Given the description of an element on the screen output the (x, y) to click on. 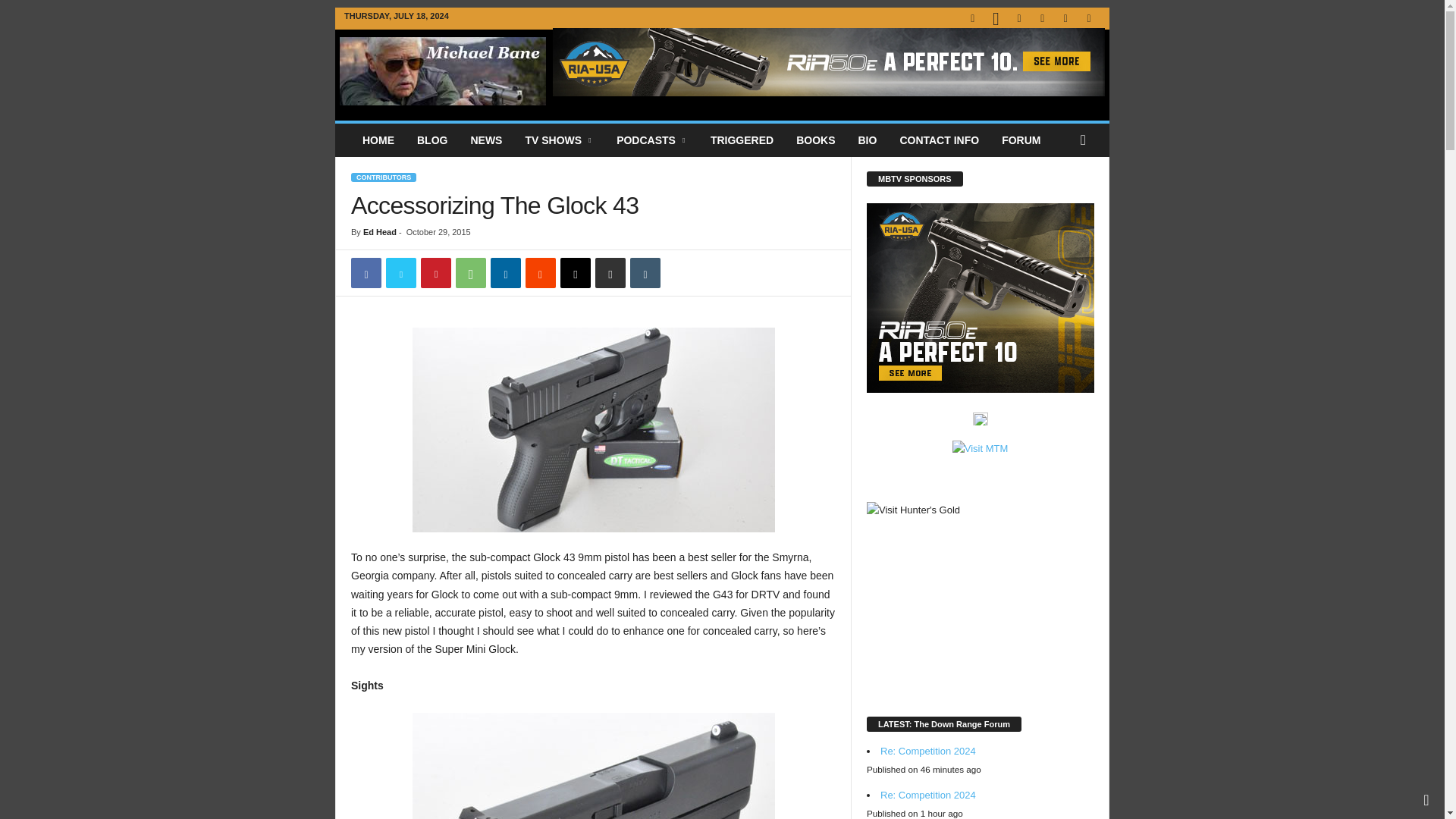
PODCASTS (651, 140)
WhatsApp (470, 272)
BLOG (432, 140)
HOME (378, 140)
MichaelBane.TV (442, 70)
TRIGGERED (741, 140)
Pinterest (435, 272)
TV SHOWS (559, 140)
Facebook (365, 272)
Twitter (400, 272)
NEWS (485, 140)
